Given the description of an element on the screen output the (x, y) to click on. 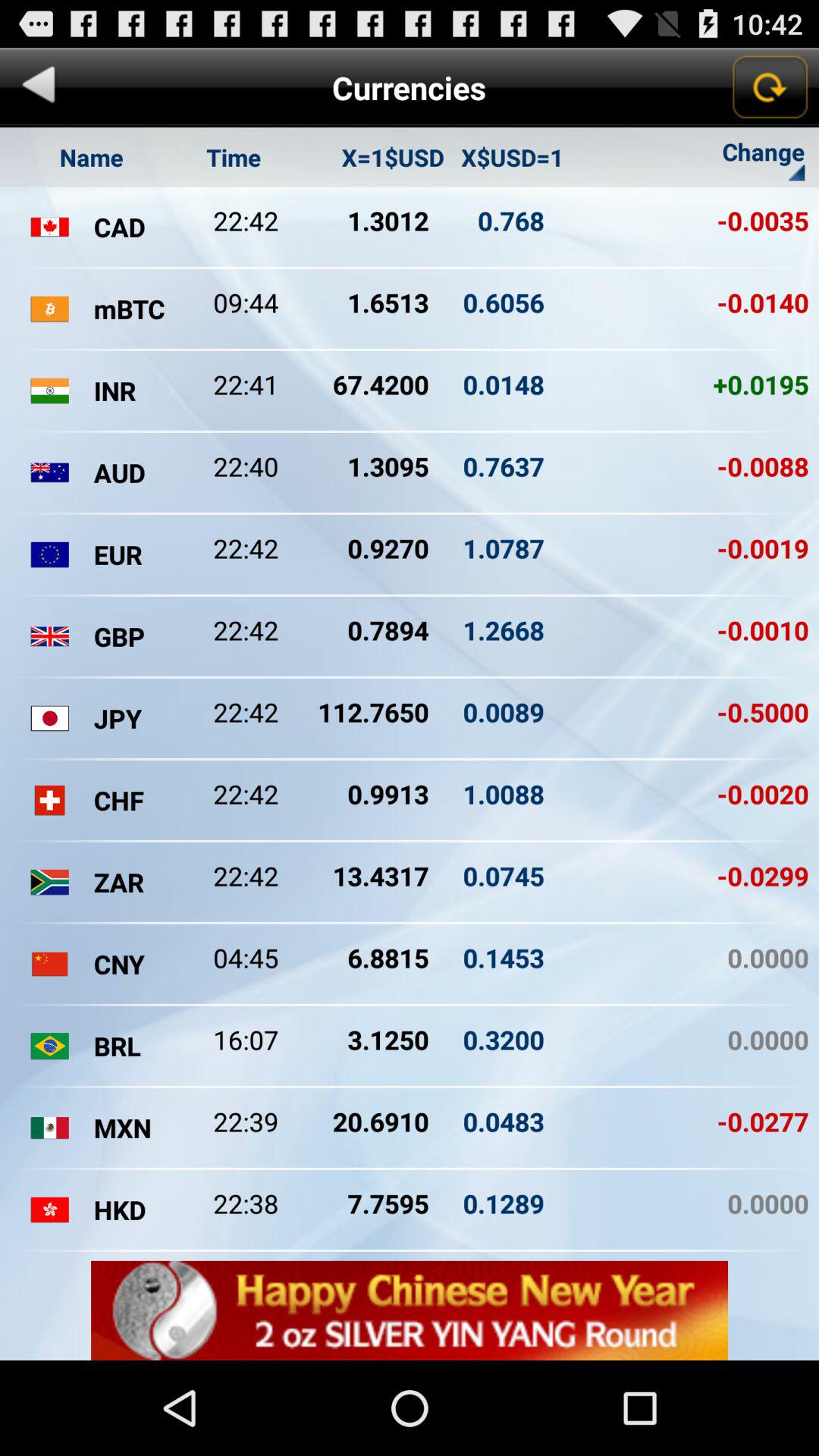
reload currencies (769, 87)
